Given the description of an element on the screen output the (x, y) to click on. 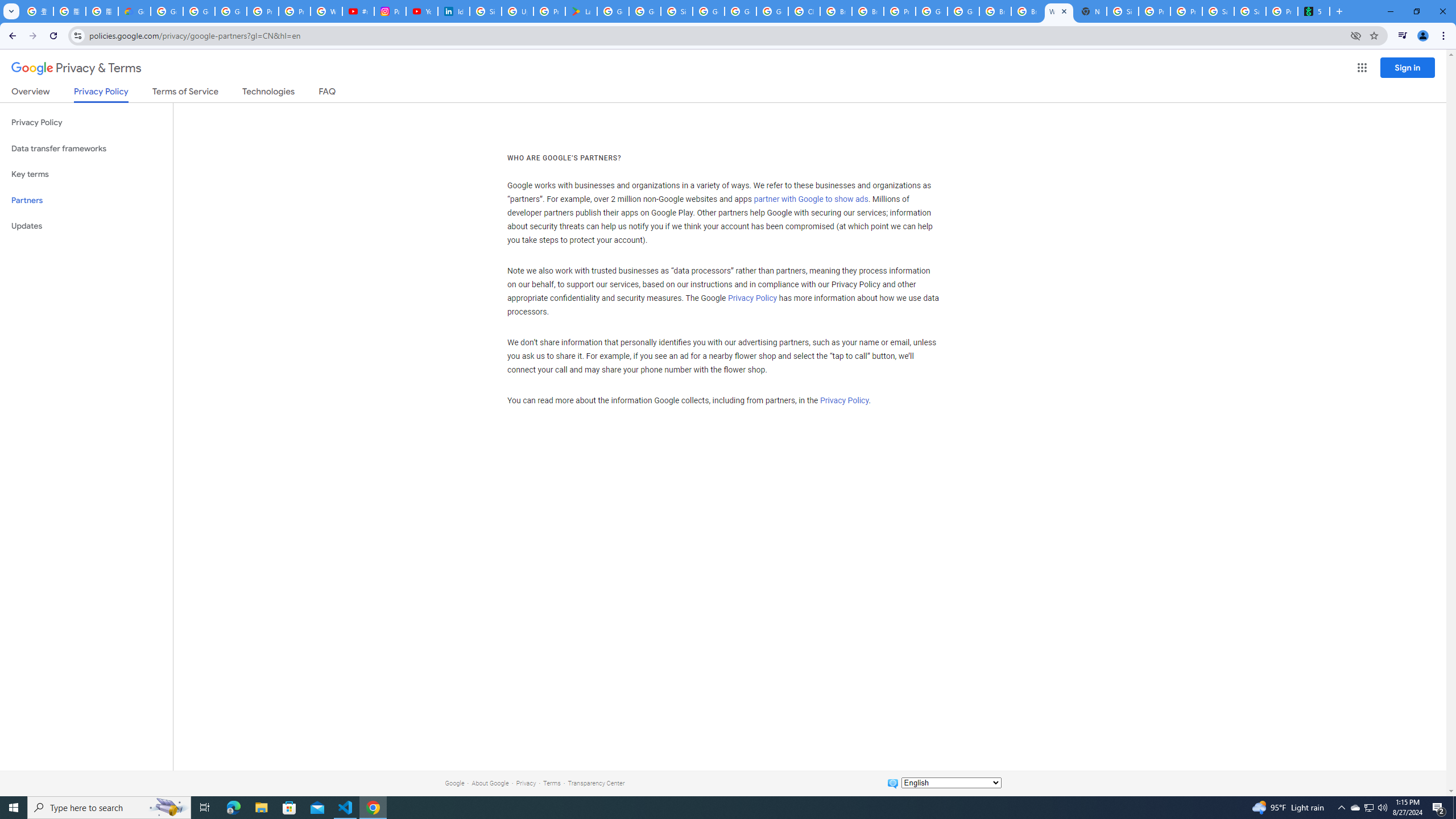
#nbabasketballhighlights - YouTube (358, 11)
